Given the description of an element on the screen output the (x, y) to click on. 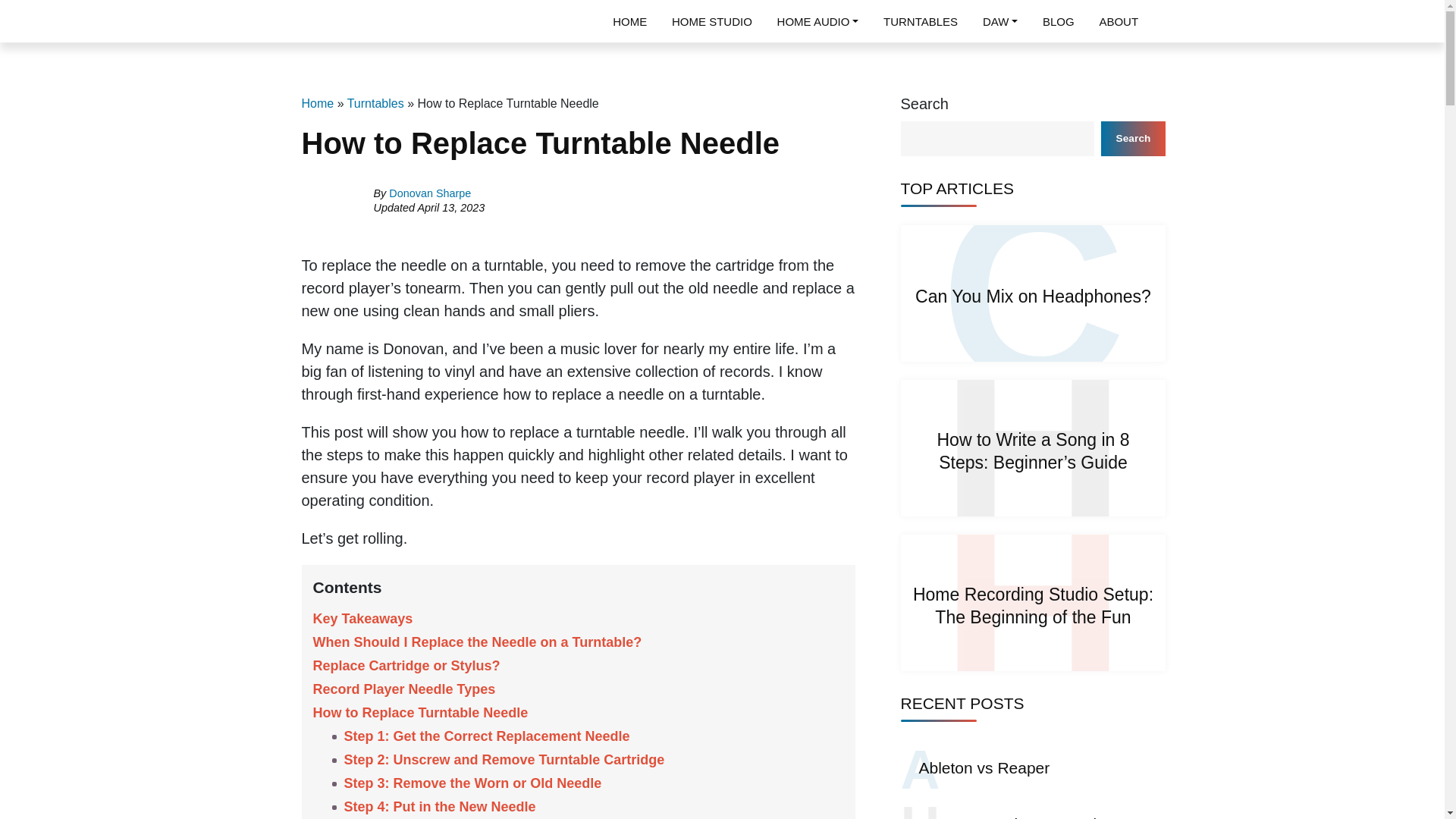
HOME STUDIO (711, 21)
Can You Mix on Headphones? (1033, 296)
About (1118, 21)
TURNTABLES (920, 21)
BLOG (1058, 21)
Home Audio (817, 21)
Replace Cartridge or Stylus? (406, 665)
Key Takeaways (362, 618)
When Should I Replace the Needle on a Turntable? (477, 641)
ABOUT (1118, 21)
